Given the description of an element on the screen output the (x, y) to click on. 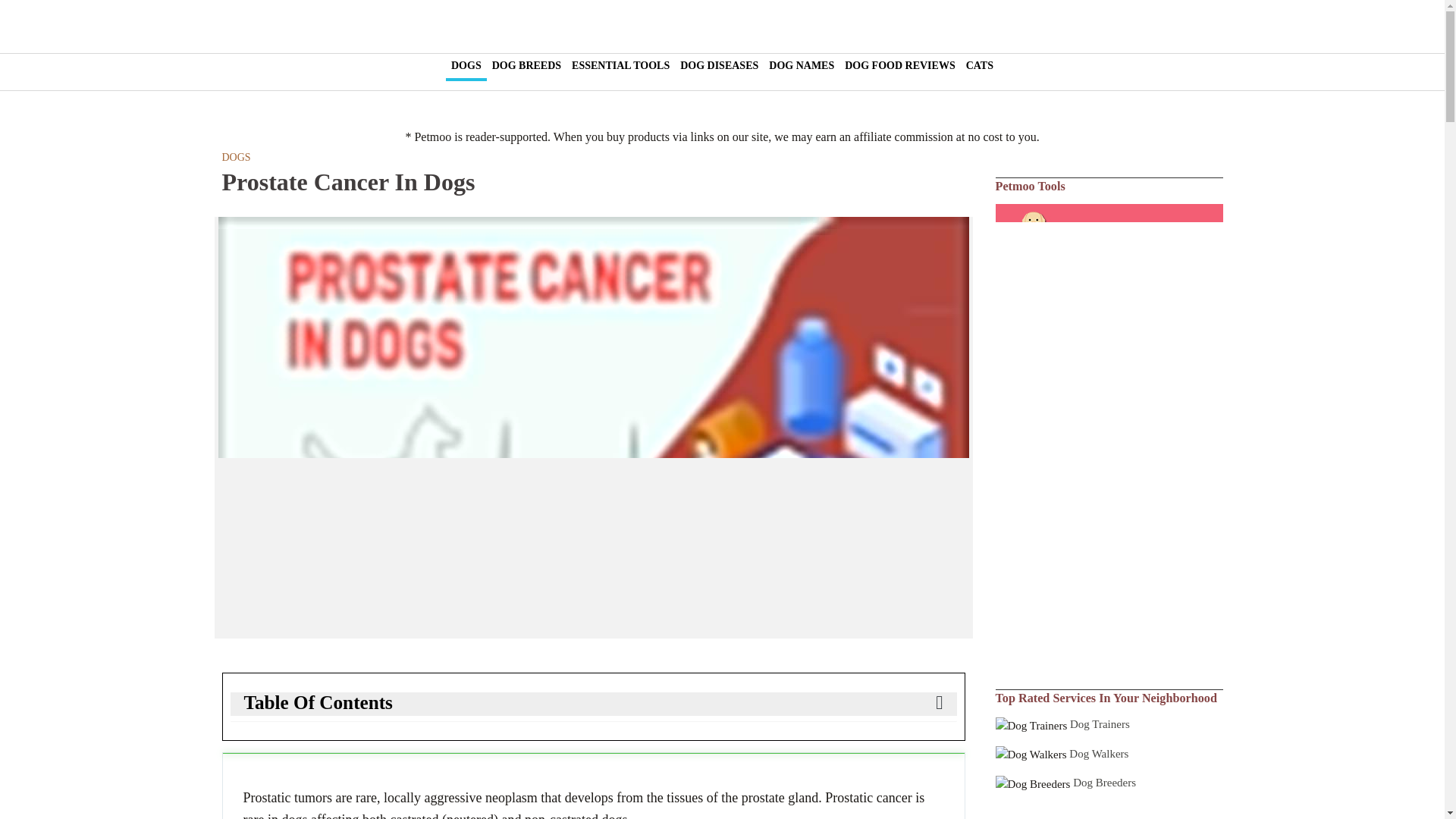
DOGS (235, 158)
DOG DISEASES (718, 65)
DOG BREEDS (526, 65)
CATS (979, 65)
ESSENTIAL TOOLS (620, 65)
DOGS (465, 67)
DOG FOOD REVIEWS (899, 65)
DOG NAMES (801, 65)
